Given the description of an element on the screen output the (x, y) to click on. 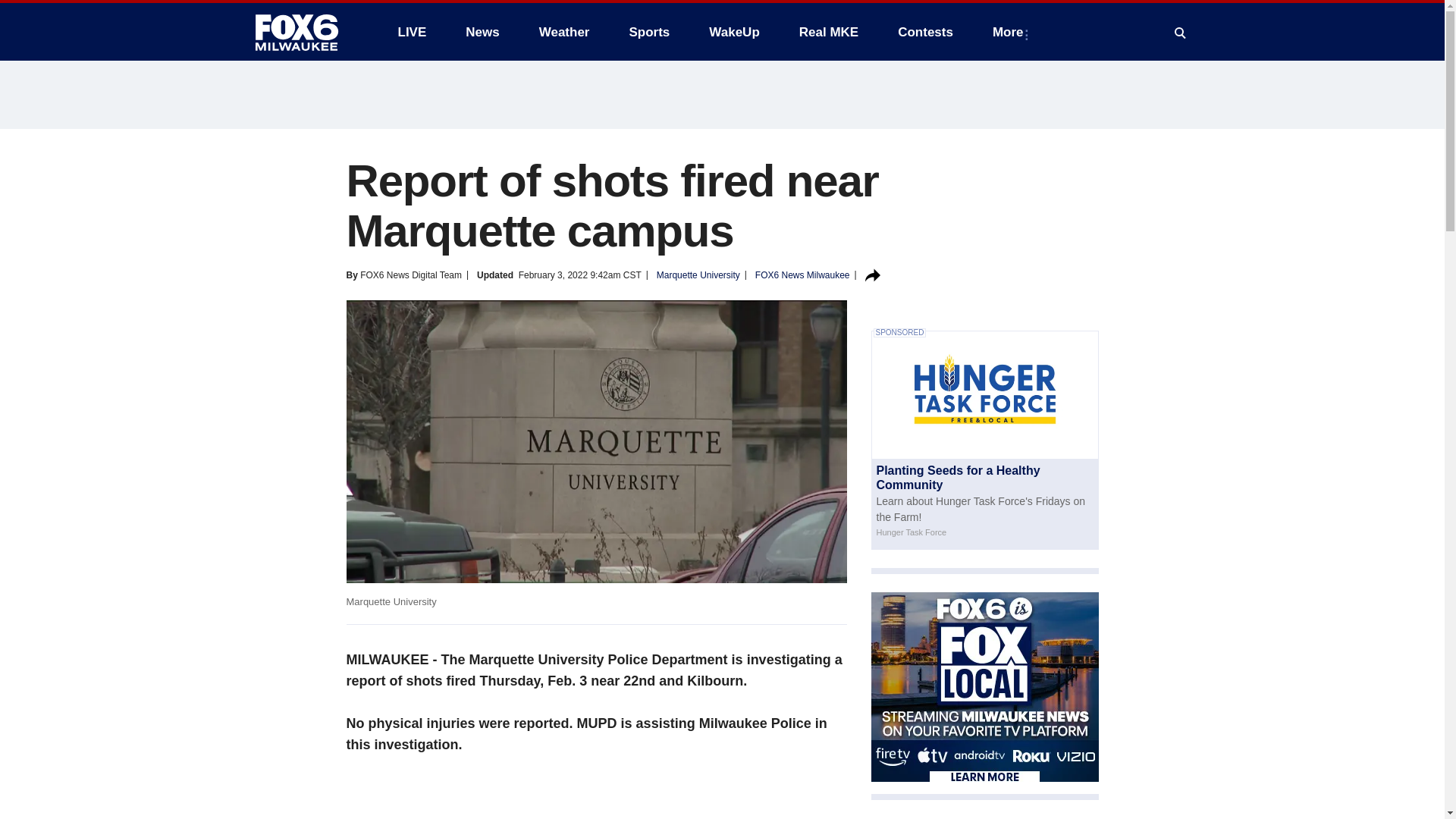
LIVE (411, 32)
News (481, 32)
WakeUp (734, 32)
Contests (925, 32)
Sports (648, 32)
Weather (564, 32)
More (1010, 32)
Real MKE (828, 32)
